Given the description of an element on the screen output the (x, y) to click on. 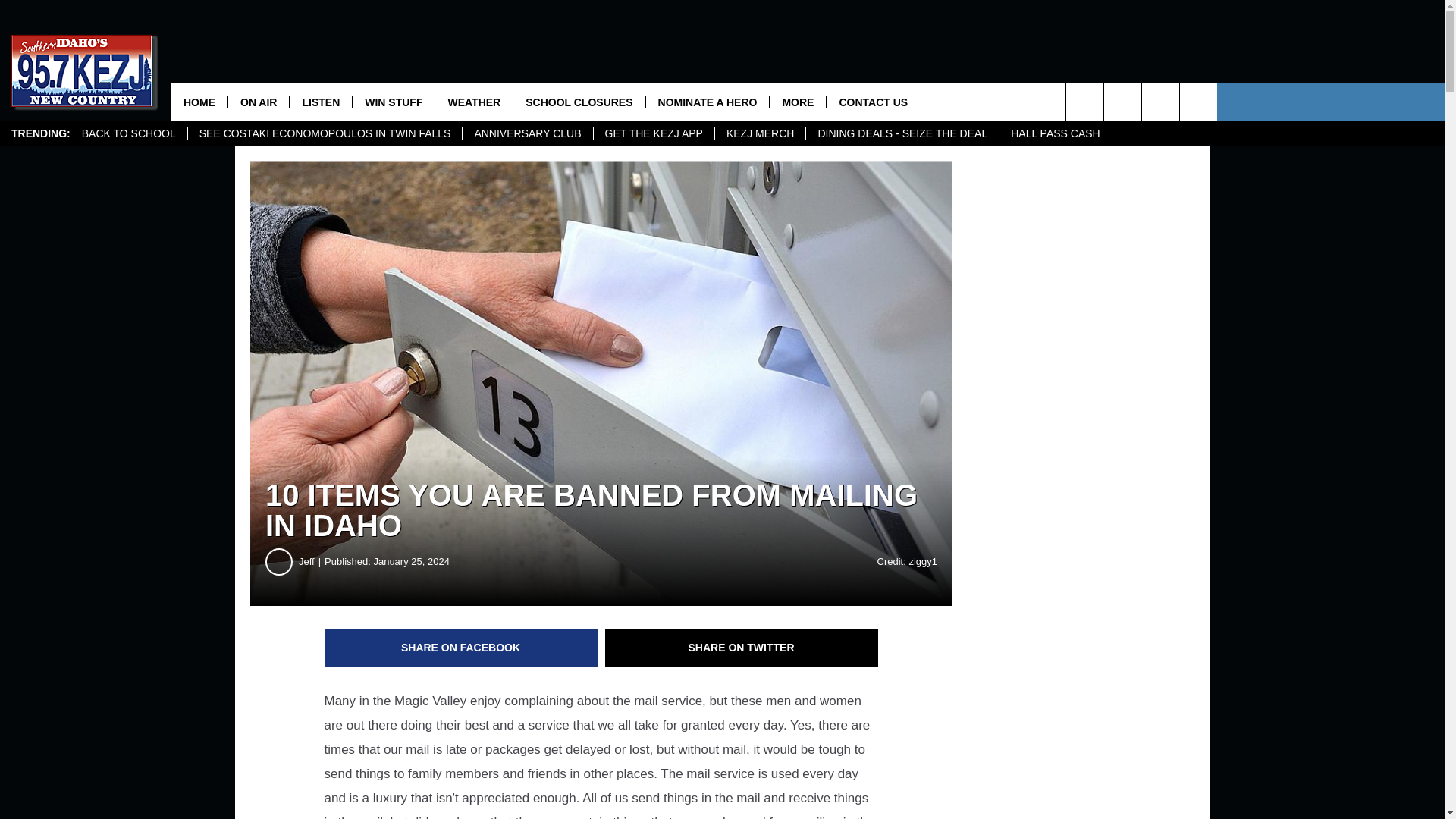
GET THE KEZJ APP (653, 133)
MORE (796, 102)
NOMINATE A HERO (707, 102)
HALL PASS CASH (1055, 133)
SEE COSTAKI ECONOMOPOULOS IN TWIN FALLS (325, 133)
WIN STUFF (392, 102)
Share on Twitter (741, 647)
WEATHER (472, 102)
ANNIVERSARY CLUB (526, 133)
SCHOOL CLOSURES (578, 102)
